Given the description of an element on the screen output the (x, y) to click on. 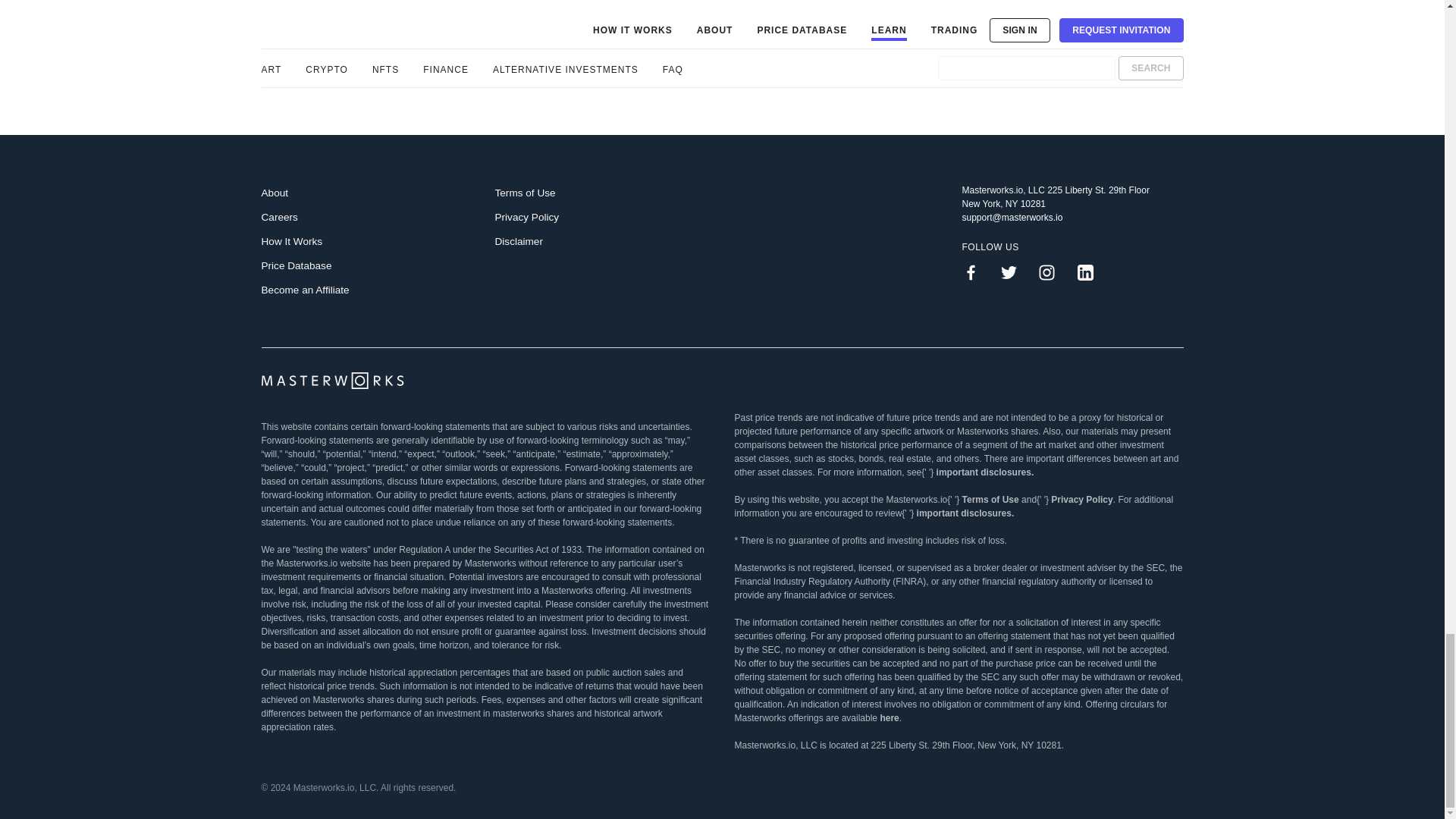
Find us in Facebook (976, 271)
Find us in Twitter (1014, 271)
Find us in LinkedIn (1091, 271)
Find us in Instagram (1052, 271)
